Given the description of an element on the screen output the (x, y) to click on. 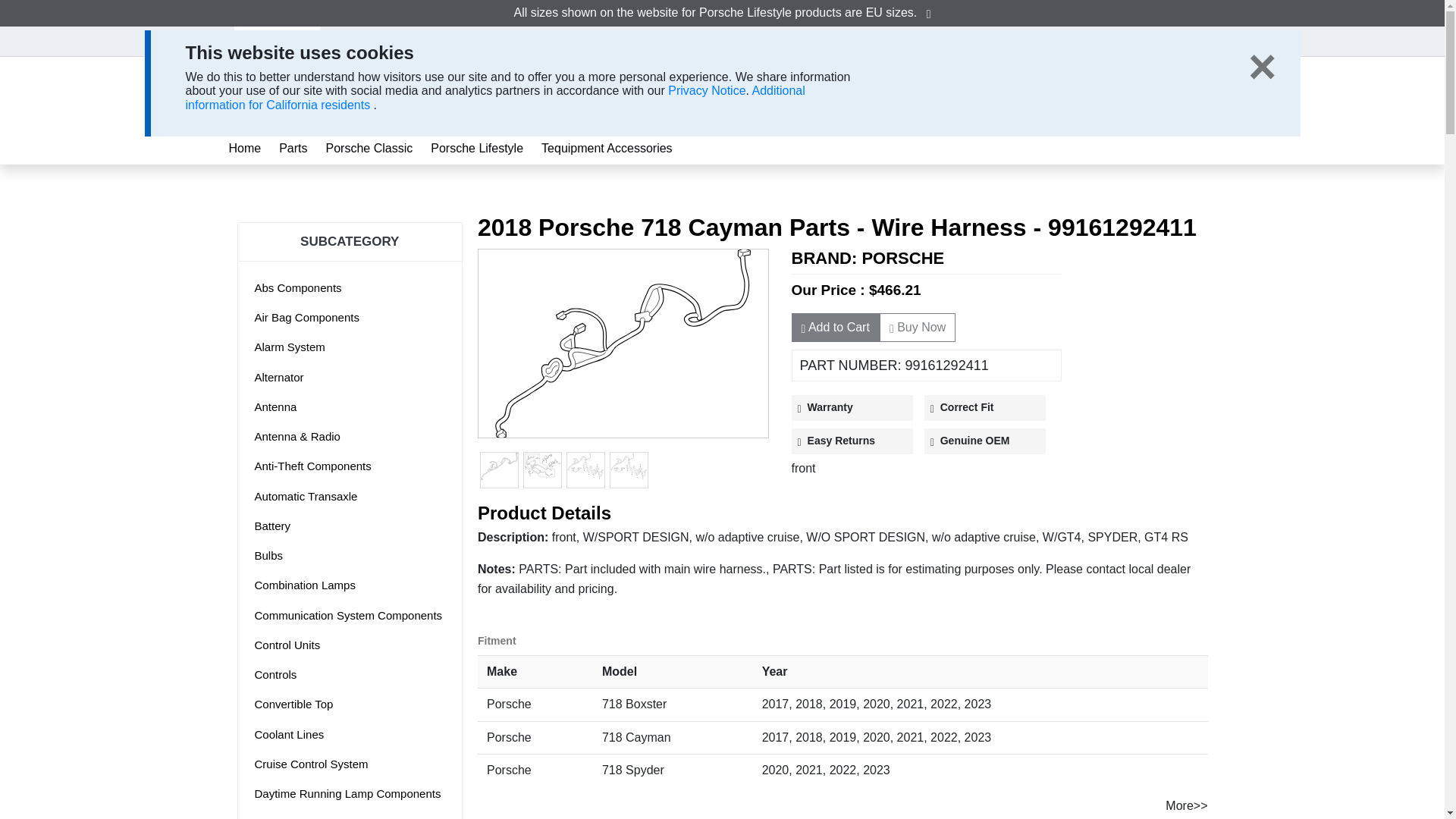
Battery (350, 526)
Automatic Transaxle (350, 495)
Home (1156, 92)
Convertible Top (244, 148)
Controls (350, 703)
Parts (350, 674)
Cruise Control System (293, 148)
Combination Lamps (350, 763)
Tequipment Accessories (350, 585)
Abs Components (606, 148)
Coolant Lines (350, 287)
Control Units (350, 734)
Select a Dealership (350, 644)
